Given the description of an element on the screen output the (x, y) to click on. 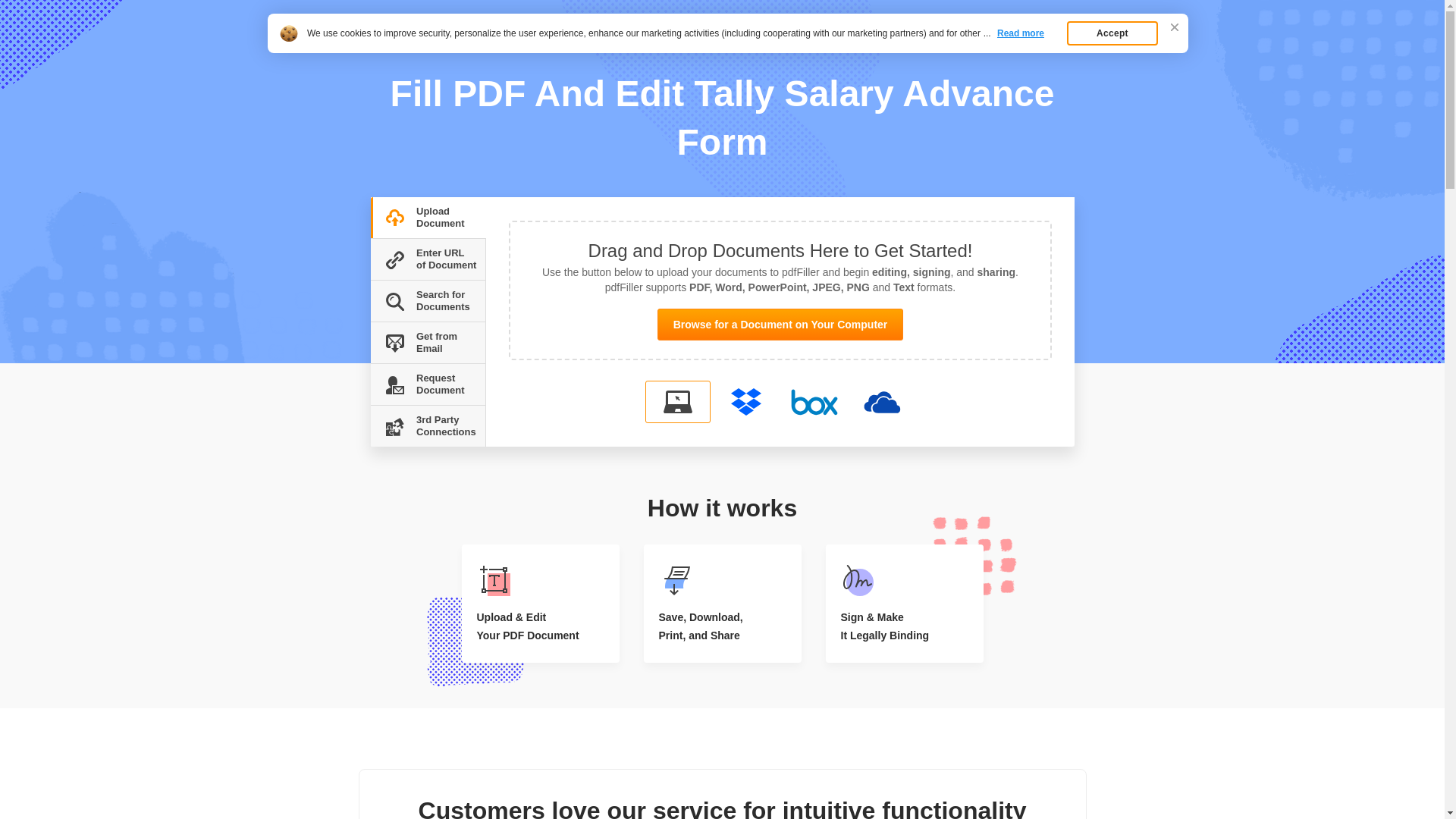
Home (380, 48)
General Functionality (443, 48)
Fill PDF And Edit Tally Salary Advance Form (583, 48)
Fill PDF And Edit (424, 23)
